Given the description of an element on the screen output the (x, y) to click on. 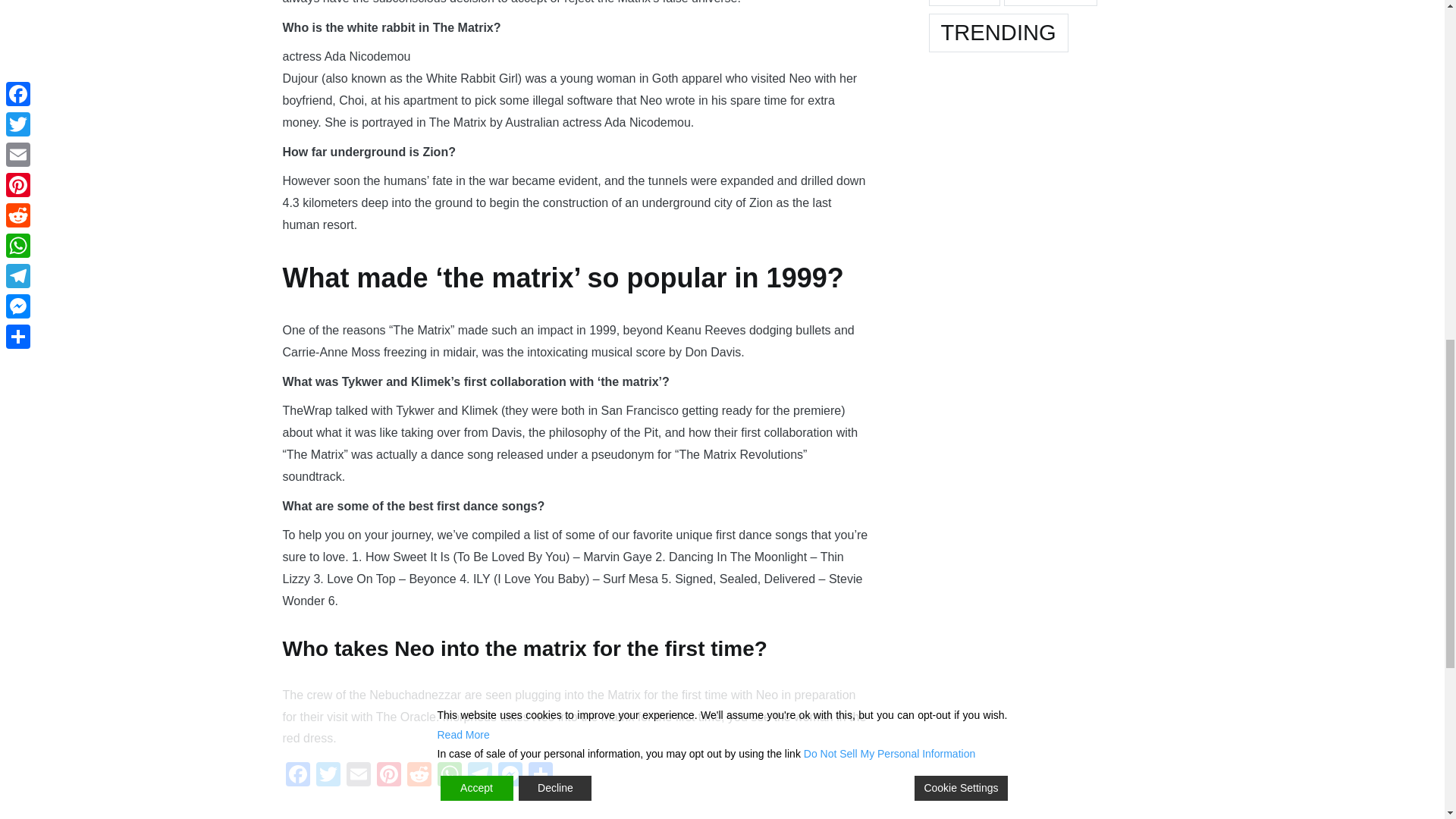
Twitter (327, 776)
Facebook (297, 776)
WhatsApp (448, 776)
Messenger (509, 776)
Reddit (418, 776)
WhatsApp (448, 776)
Email (357, 776)
Facebook (297, 776)
Pinterest (387, 776)
Share (539, 776)
Email (357, 776)
Reddit (418, 776)
Twitter (327, 776)
Telegram (479, 776)
Telegram (479, 776)
